Given the description of an element on the screen output the (x, y) to click on. 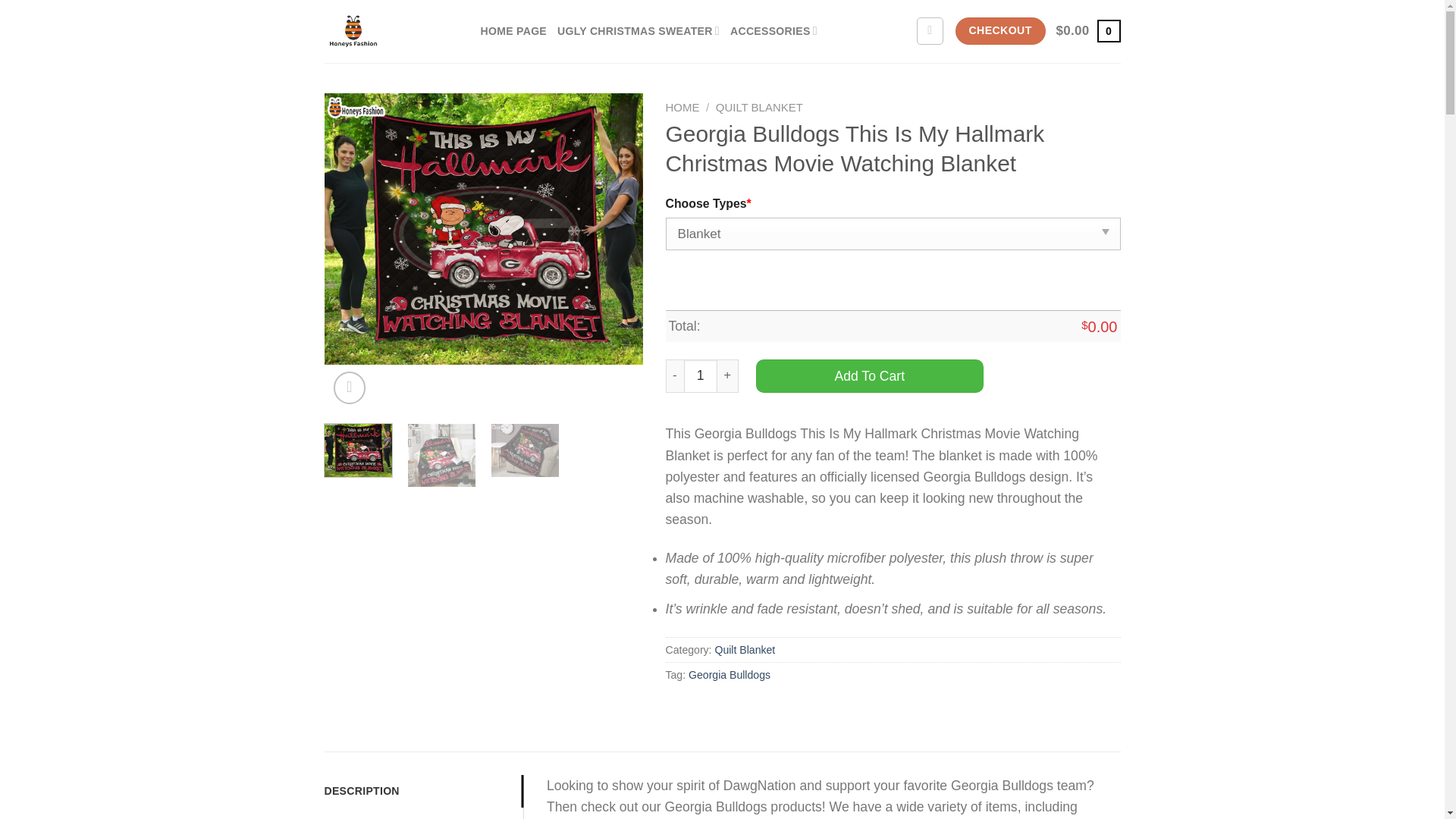
HOME PAGE (513, 31)
Quilt Blanket (744, 649)
Cart (1089, 30)
CHECKOUT (1000, 31)
1 (700, 376)
HOME (682, 106)
Honeysfashion - Find what you need here (391, 31)
ACCESSORIES (773, 31)
Georgia Bulldogs (729, 674)
